Given the description of an element on the screen output the (x, y) to click on. 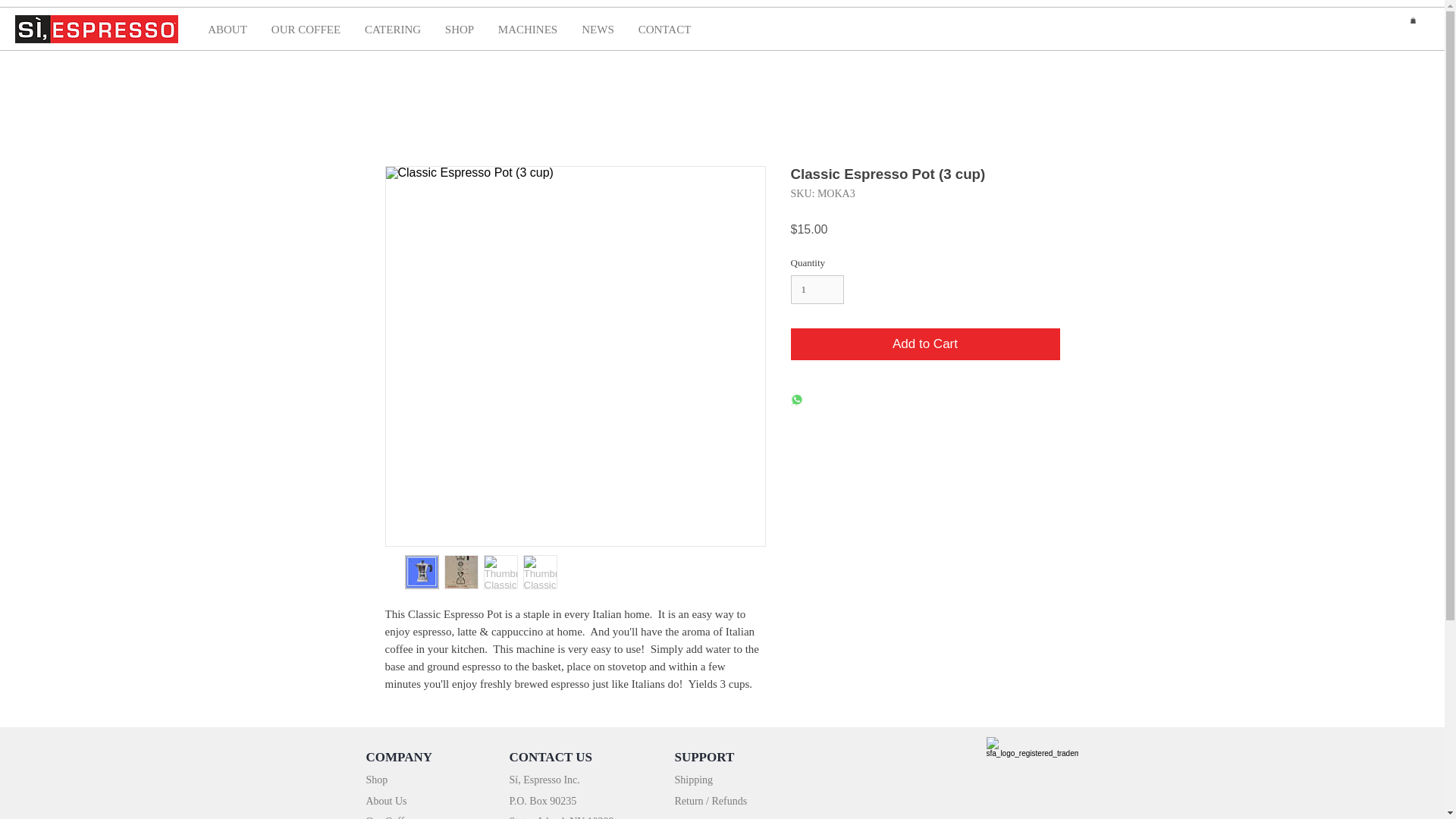
ABOUT (227, 29)
SHOP (459, 29)
CONTACT (664, 29)
Shipping (694, 779)
NEWS (597, 29)
Add to Cart (924, 344)
OUR COFFEE (305, 29)
SUPPORT (705, 757)
CATERING (392, 29)
About Us (385, 800)
Our Coffee (389, 816)
1 (817, 289)
CONTACT US (550, 757)
Shop (376, 779)
MACHINES (527, 29)
